Given the description of an element on the screen output the (x, y) to click on. 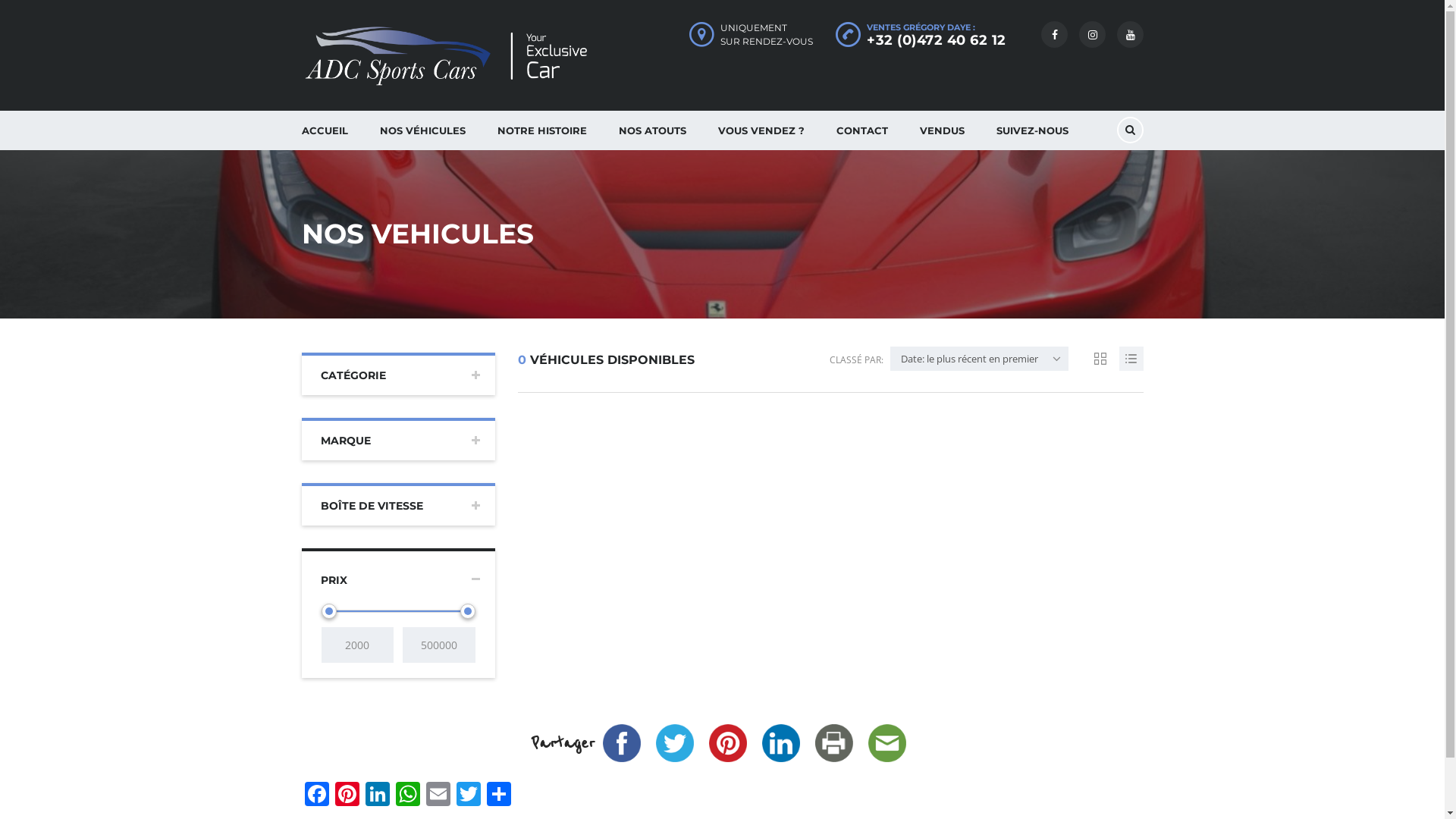
VOUS VENDEZ ? Element type: text (761, 130)
Pinterest Element type: hover (726, 742)
MARQUE Element type: text (398, 438)
Facebook Element type: text (316, 795)
Twitter Element type: text (468, 795)
LinkedIn Element type: text (377, 795)
Accueil Element type: hover (453, 56)
ACCUEIL Element type: text (324, 130)
Twitter Element type: hover (673, 742)
Email Element type: hover (886, 742)
NOTRE HISTOIRE Element type: text (541, 130)
Facebook Element type: hover (620, 742)
PRIX Element type: text (398, 575)
LinkedIn Element type: hover (779, 742)
Print Element type: hover (832, 742)
WhatsApp Element type: text (407, 795)
Partager Element type: text (498, 795)
Email Element type: text (438, 795)
VENDUS Element type: text (941, 130)
+32 (0)472 40 62 12 Element type: text (936, 39)
SUIVEZ-NOUS Element type: text (1031, 130)
NOS ATOUTS Element type: text (651, 130)
Pinterest Element type: text (347, 795)
CONTACT Element type: text (861, 130)
